Given the description of an element on the screen output the (x, y) to click on. 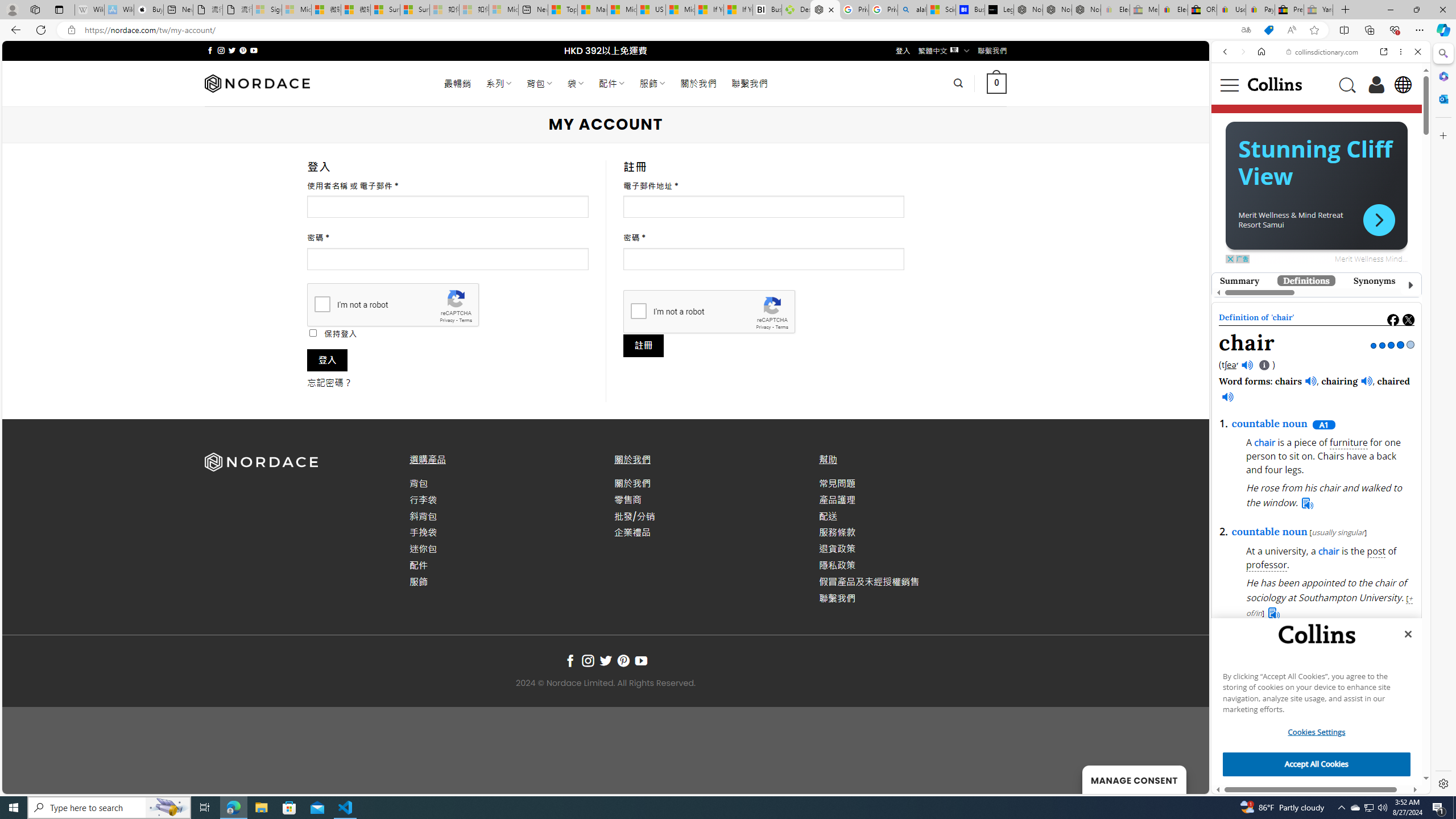
Terms (781, 326)
Class: ns-vyjj0-e-1 svg-anchor (1315, 304)
MANAGE CONSENT (1133, 779)
Class: ns-rrwcd-e-11 flip-on-rtl button (1378, 219)
